Given the description of an element on the screen output the (x, y) to click on. 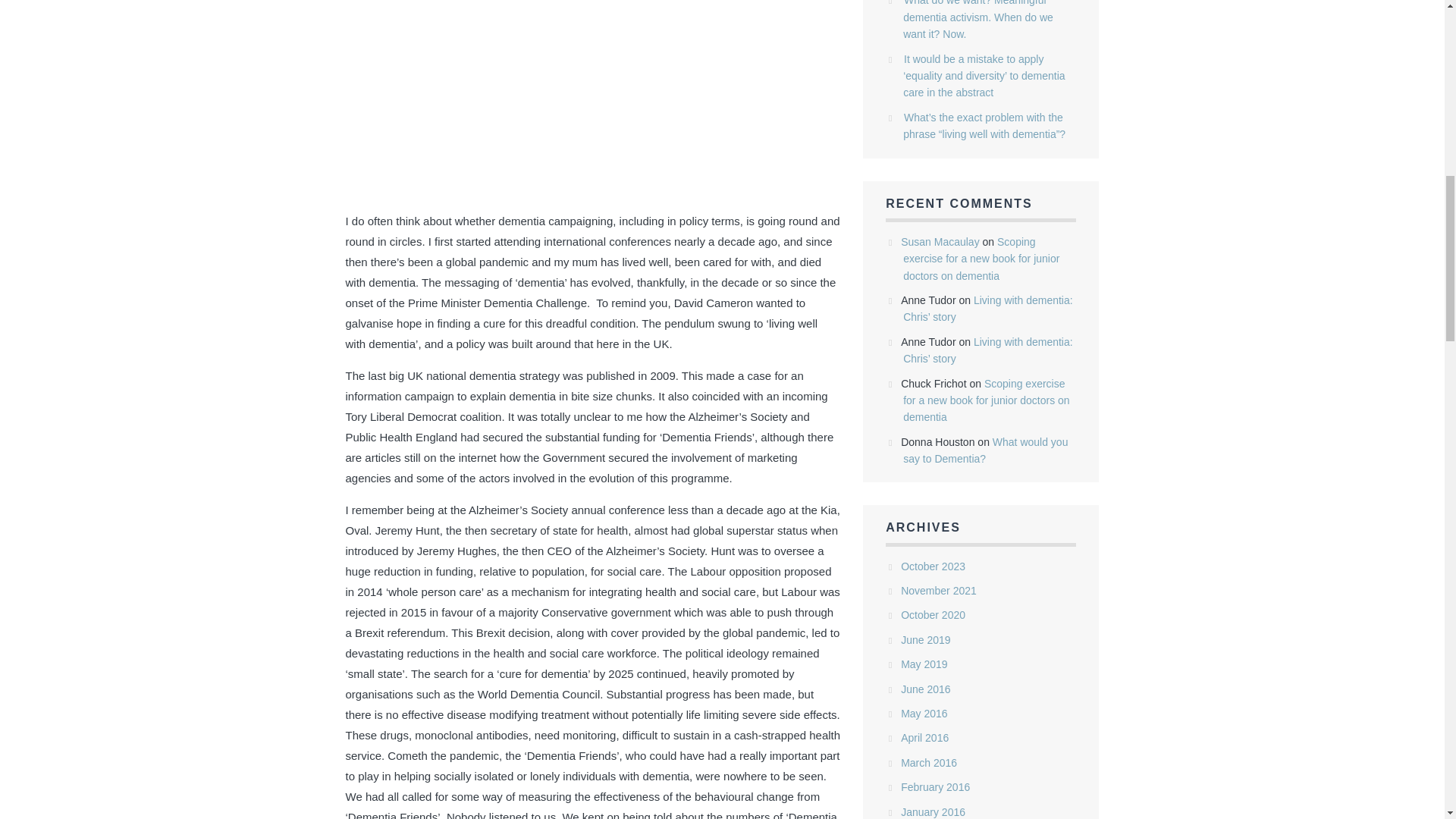
Susan Macaulay (940, 241)
What would you say to Dementia? (984, 450)
October 2023 (933, 566)
November 2021 (938, 590)
